Given the description of an element on the screen output the (x, y) to click on. 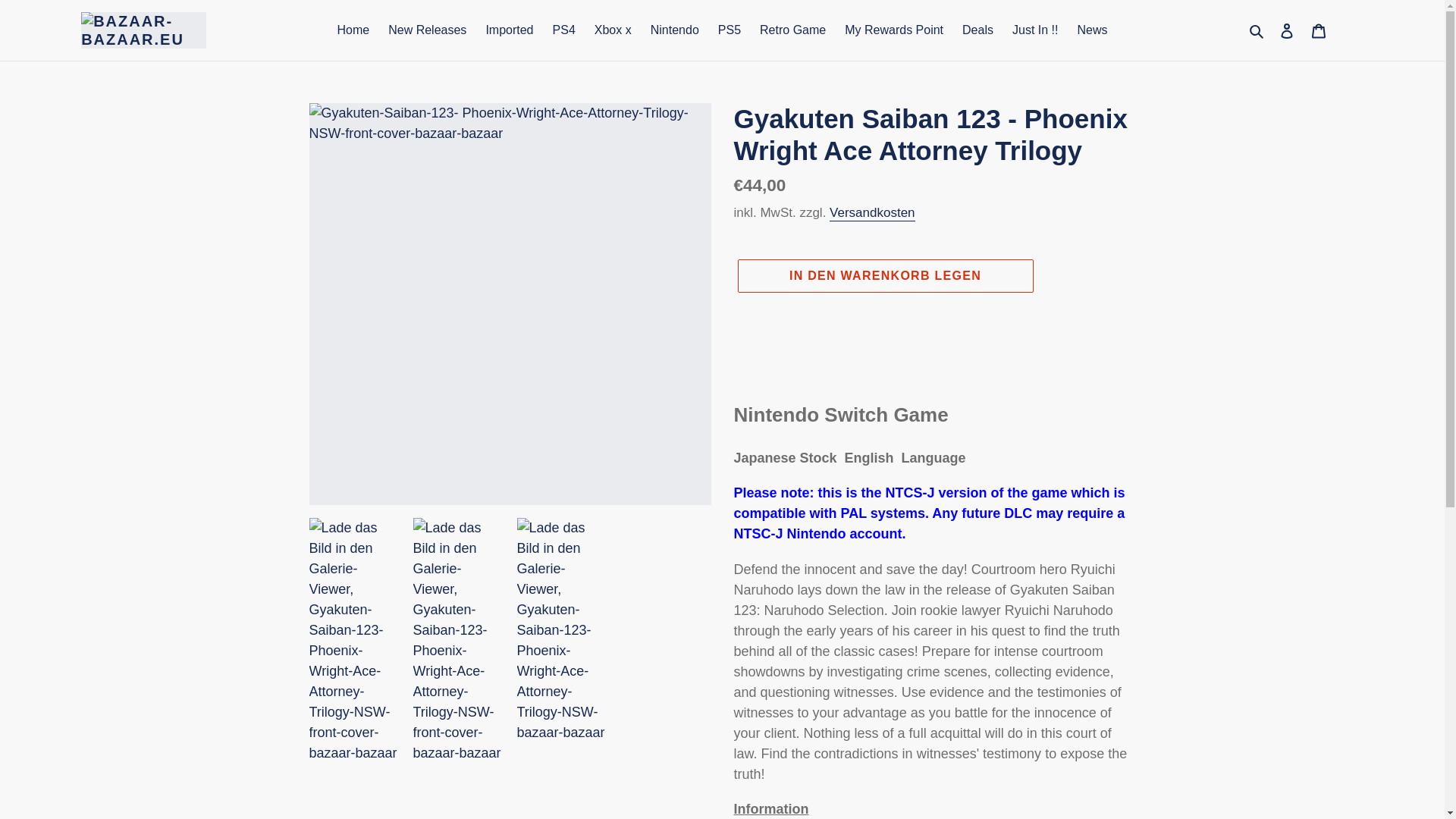
Suchen (1257, 30)
New Releases (427, 29)
IN DEN WARENKORB LEGEN (884, 275)
Just In !! (1034, 29)
Deals (978, 29)
Versandkosten (871, 213)
Retro Game (792, 29)
PS5 (729, 29)
Imported (508, 29)
Xbox x (612, 29)
